Given the description of an element on the screen output the (x, y) to click on. 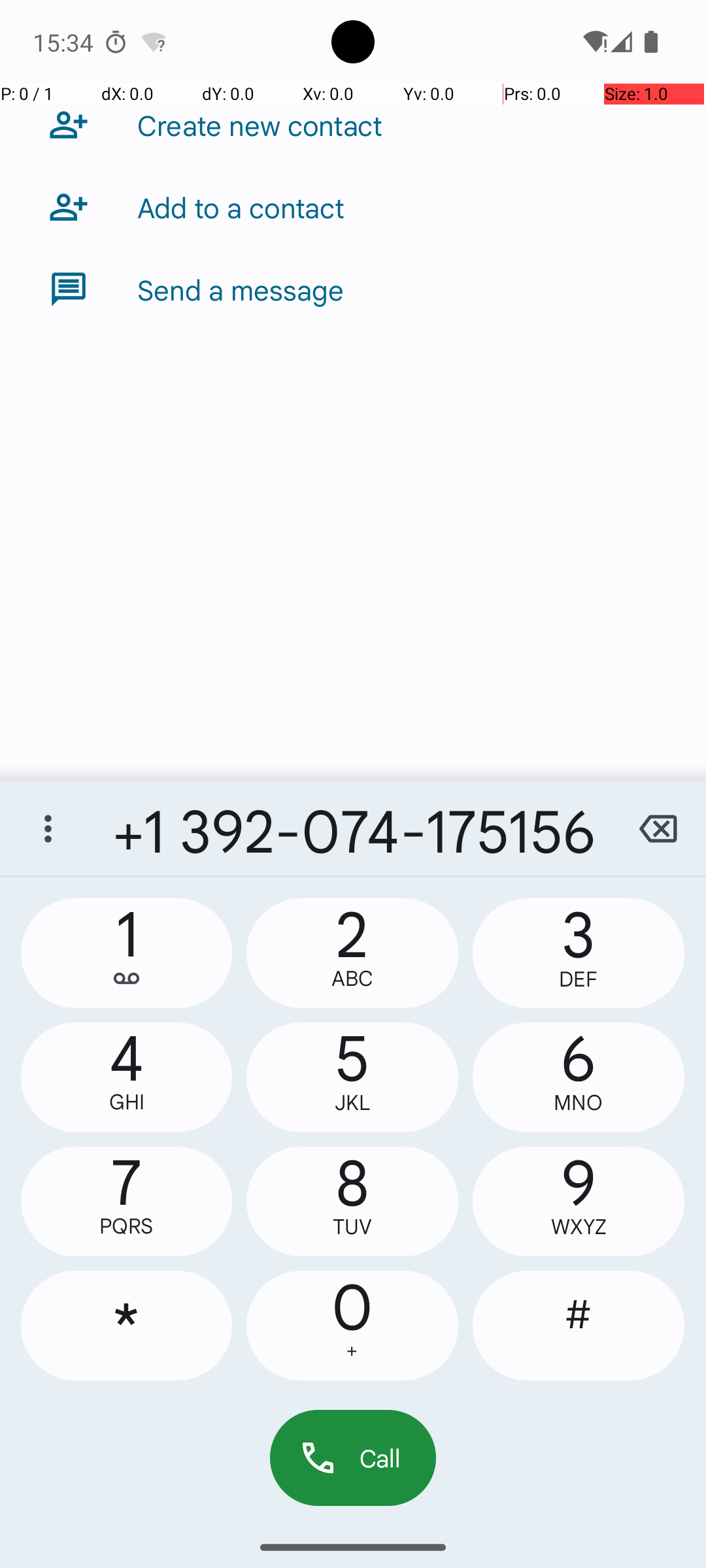
+1 392-074-175156 Element type: android.widget.EditText (352, 828)
